Given the description of an element on the screen output the (x, y) to click on. 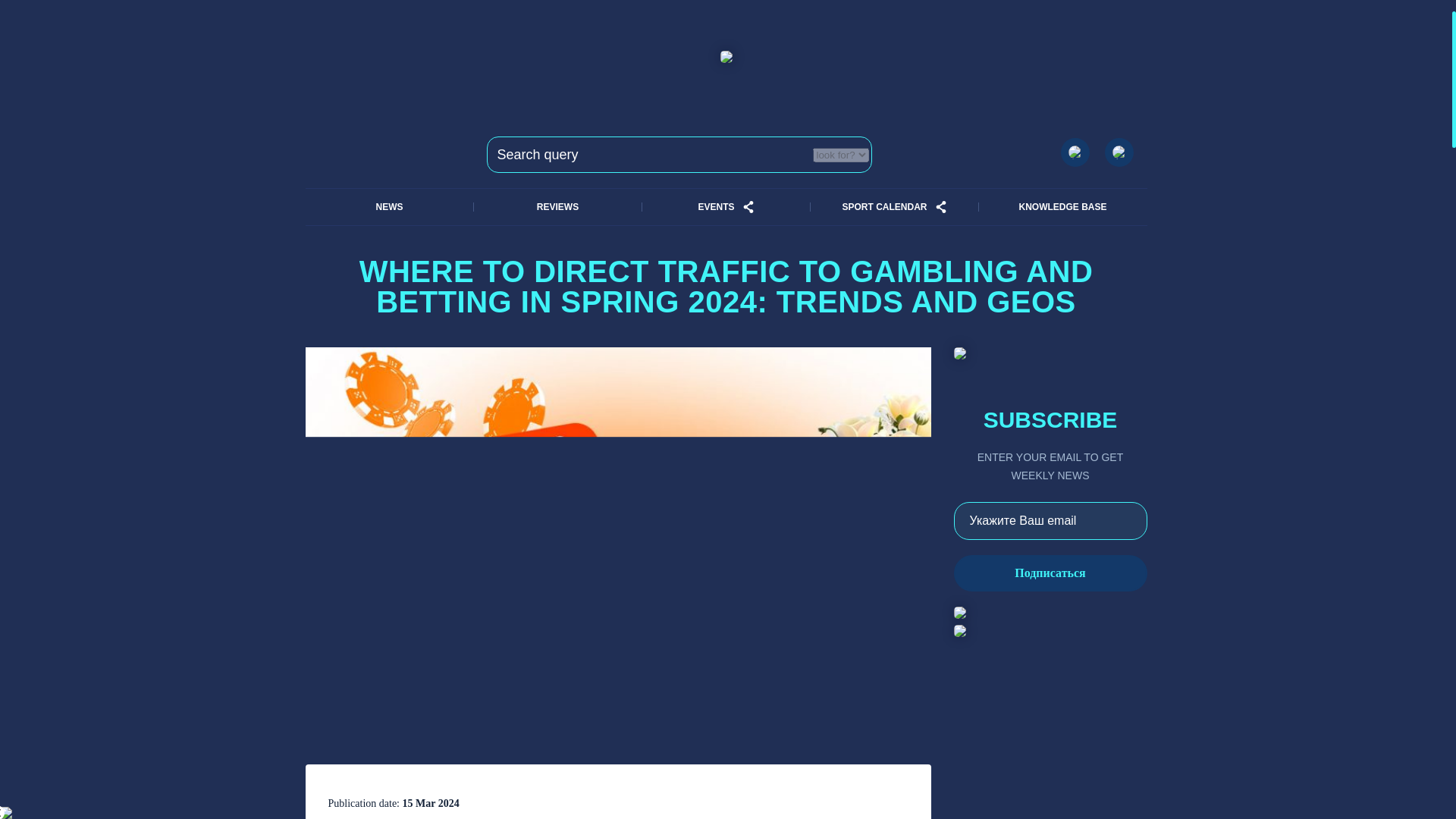
EVENTS (715, 207)
REVIEWS (557, 207)
KNOWLEDGE BASE (1062, 207)
NEWS (388, 207)
SPORT CALENDAR (883, 207)
